Given the description of an element on the screen output the (x, y) to click on. 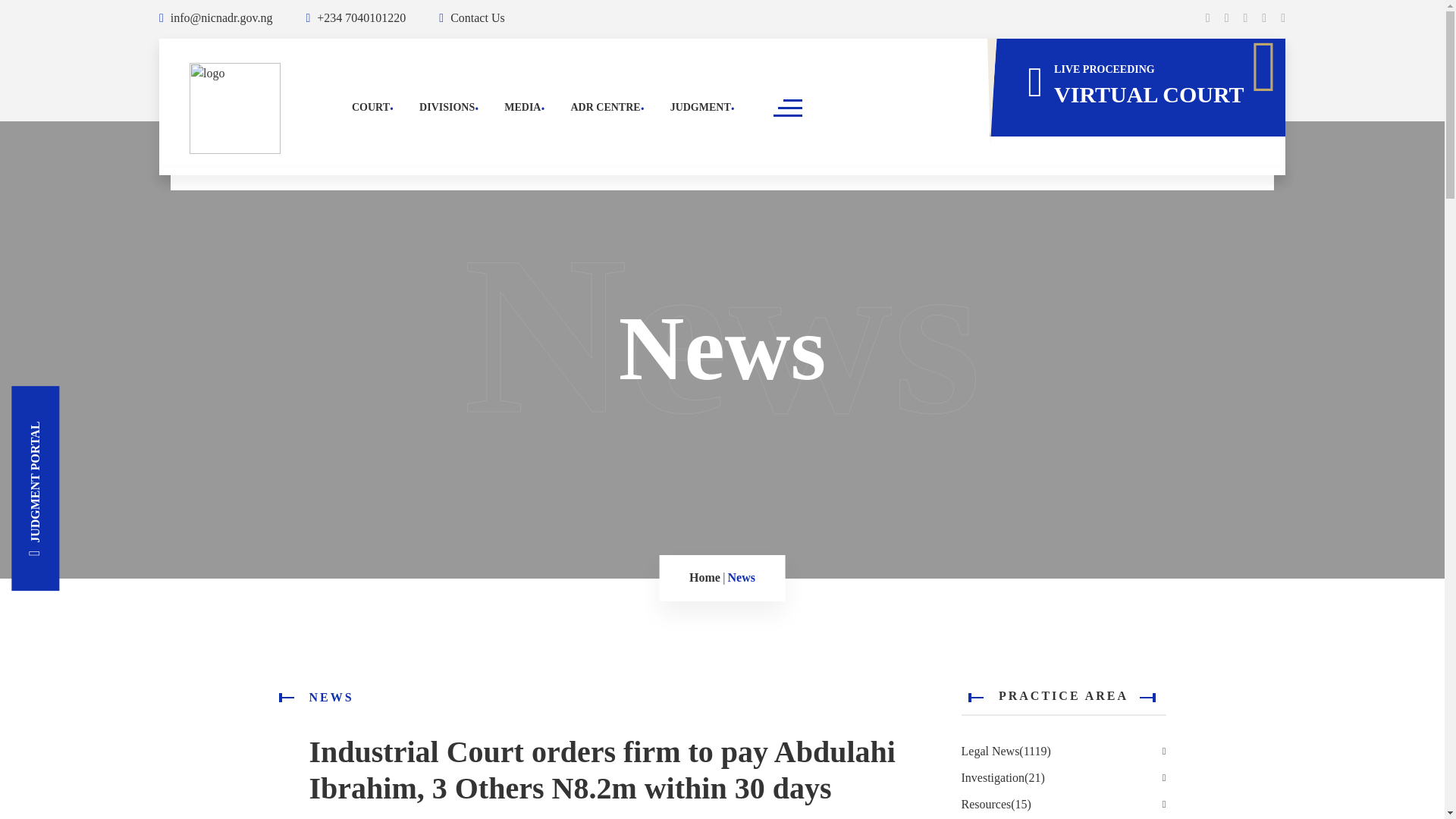
DIVISIONS (446, 107)
COURT (371, 107)
JUDGMENT (699, 107)
Contact Us (471, 17)
MEDIA (521, 107)
VIRTUAL COURT (1143, 101)
ADR CENTRE (605, 107)
